Given the description of an element on the screen output the (x, y) to click on. 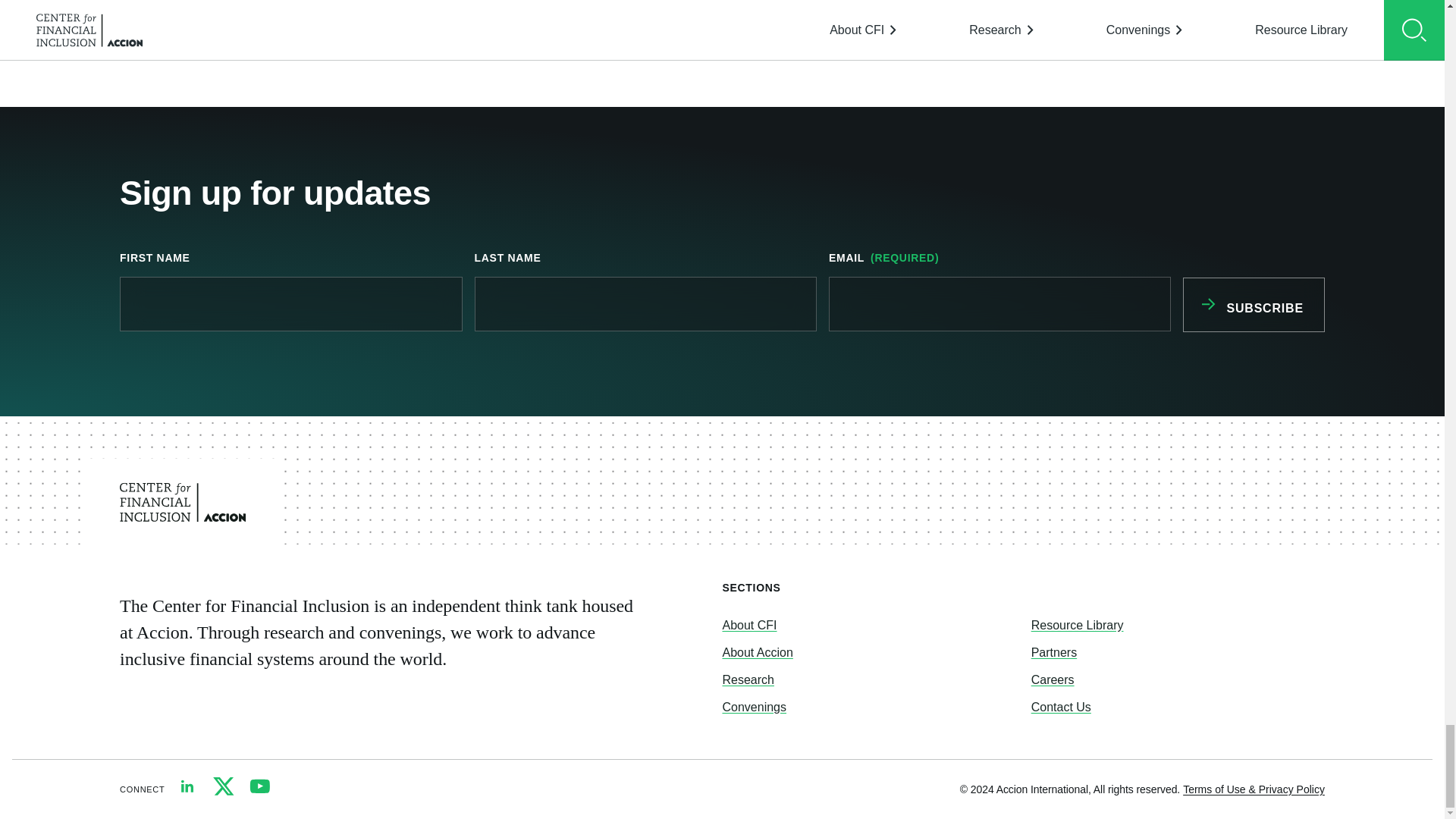
Center for Financial Inclusion (182, 502)
LinkedIn (187, 785)
subscribe (1252, 304)
YouTube (259, 785)
